Given the description of an element on the screen output the (x, y) to click on. 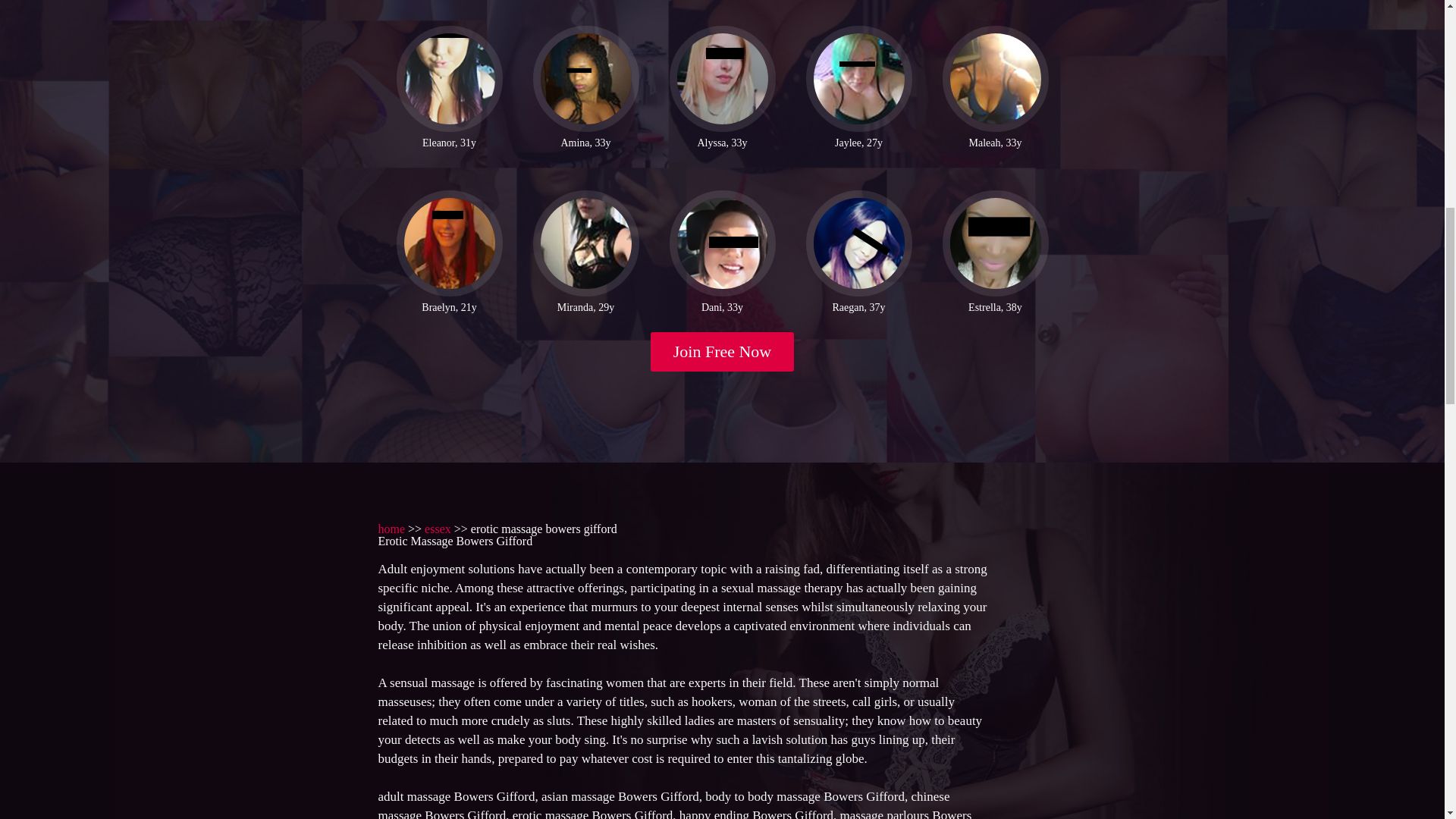
home (390, 528)
Join Free Now (722, 351)
Join (722, 351)
essex (438, 528)
